Given the description of an element on the screen output the (x, y) to click on. 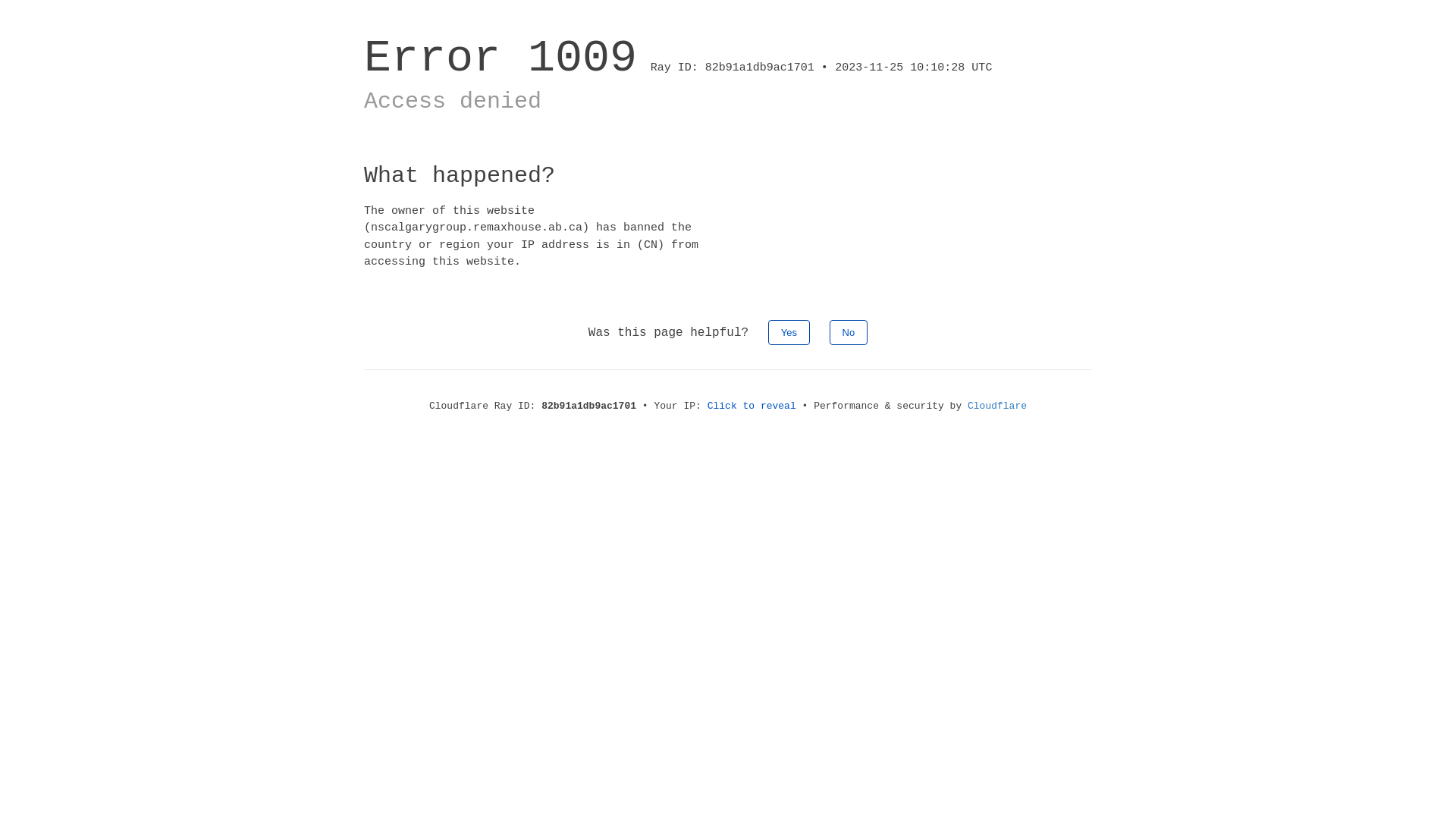
Cloudflare Element type: text (996, 405)
Click to reveal Element type: text (751, 405)
No Element type: text (848, 332)
Yes Element type: text (788, 332)
